Given the description of an element on the screen output the (x, y) to click on. 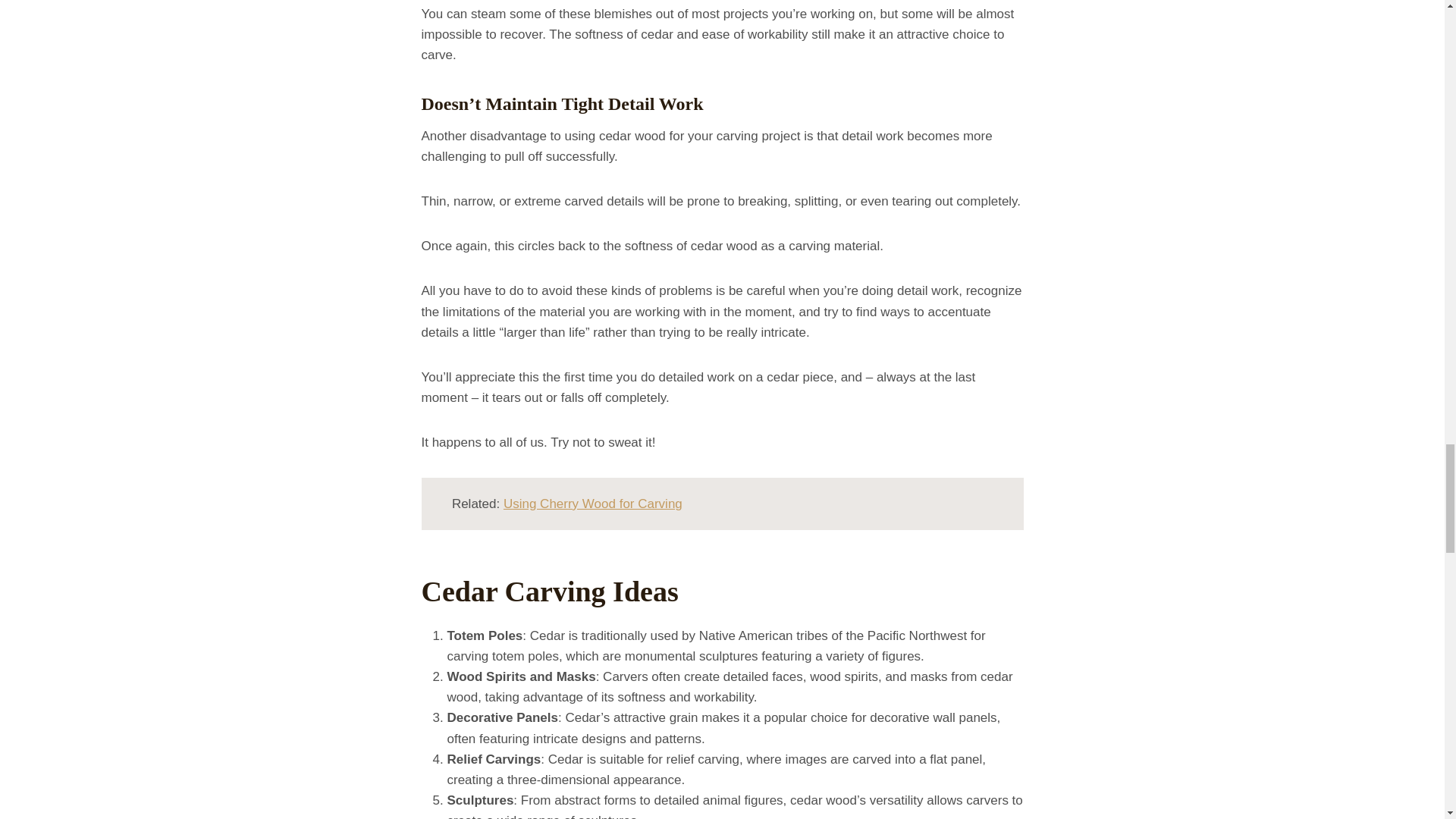
Using Cherry Wood for Carving (592, 503)
